Given the description of an element on the screen output the (x, y) to click on. 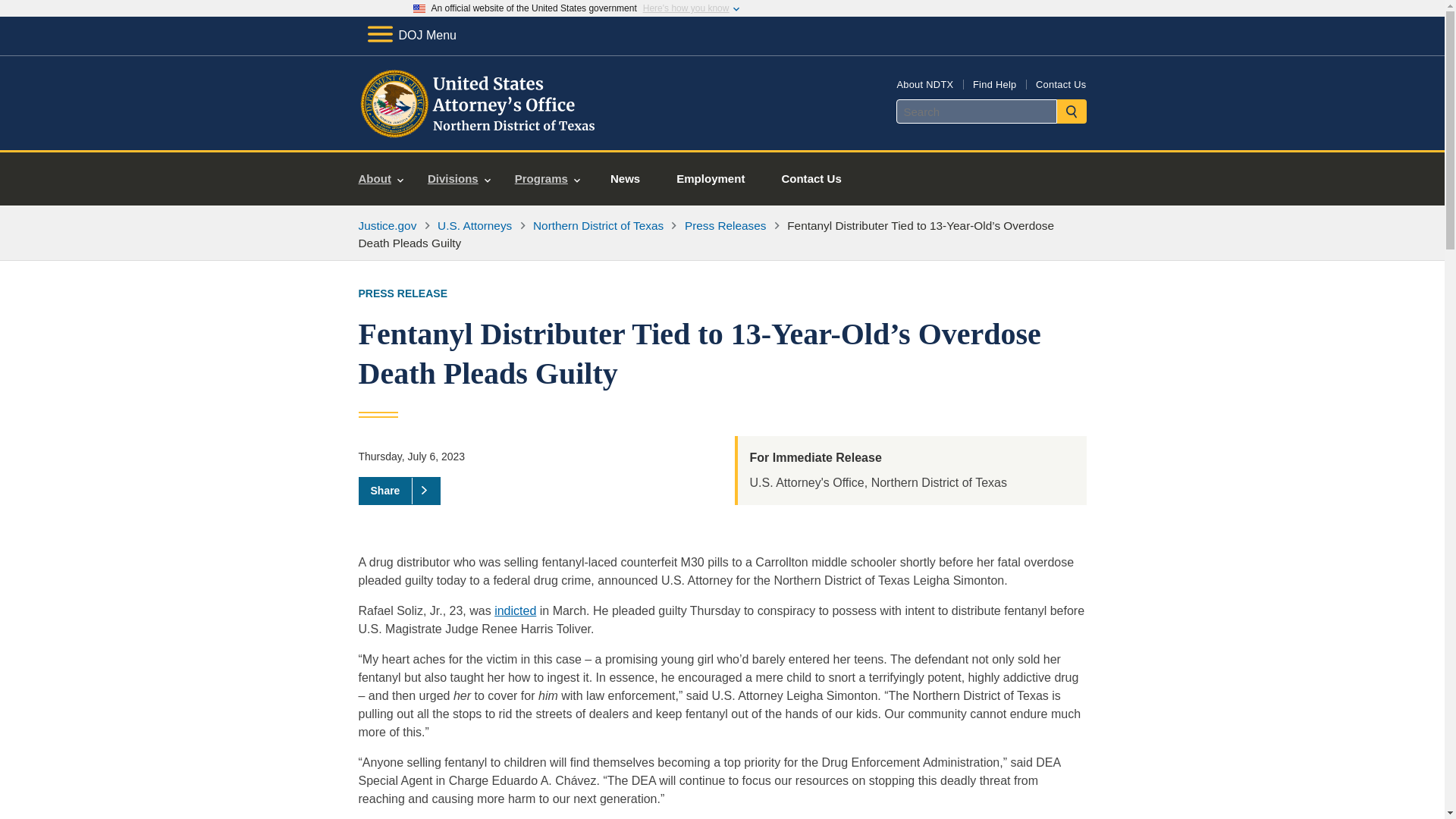
Share (398, 490)
Press Releases (725, 225)
About (380, 179)
Find Help (994, 84)
Home (481, 132)
Employment (710, 179)
Here's how you know (686, 8)
About NDTX (924, 84)
Northern District of Texas (597, 225)
U.S. Attorneys (475, 225)
DOJ Menu (411, 35)
Justice.gov (387, 225)
Contact Us (1060, 84)
News (625, 179)
indicted (515, 610)
